Given the description of an element on the screen output the (x, y) to click on. 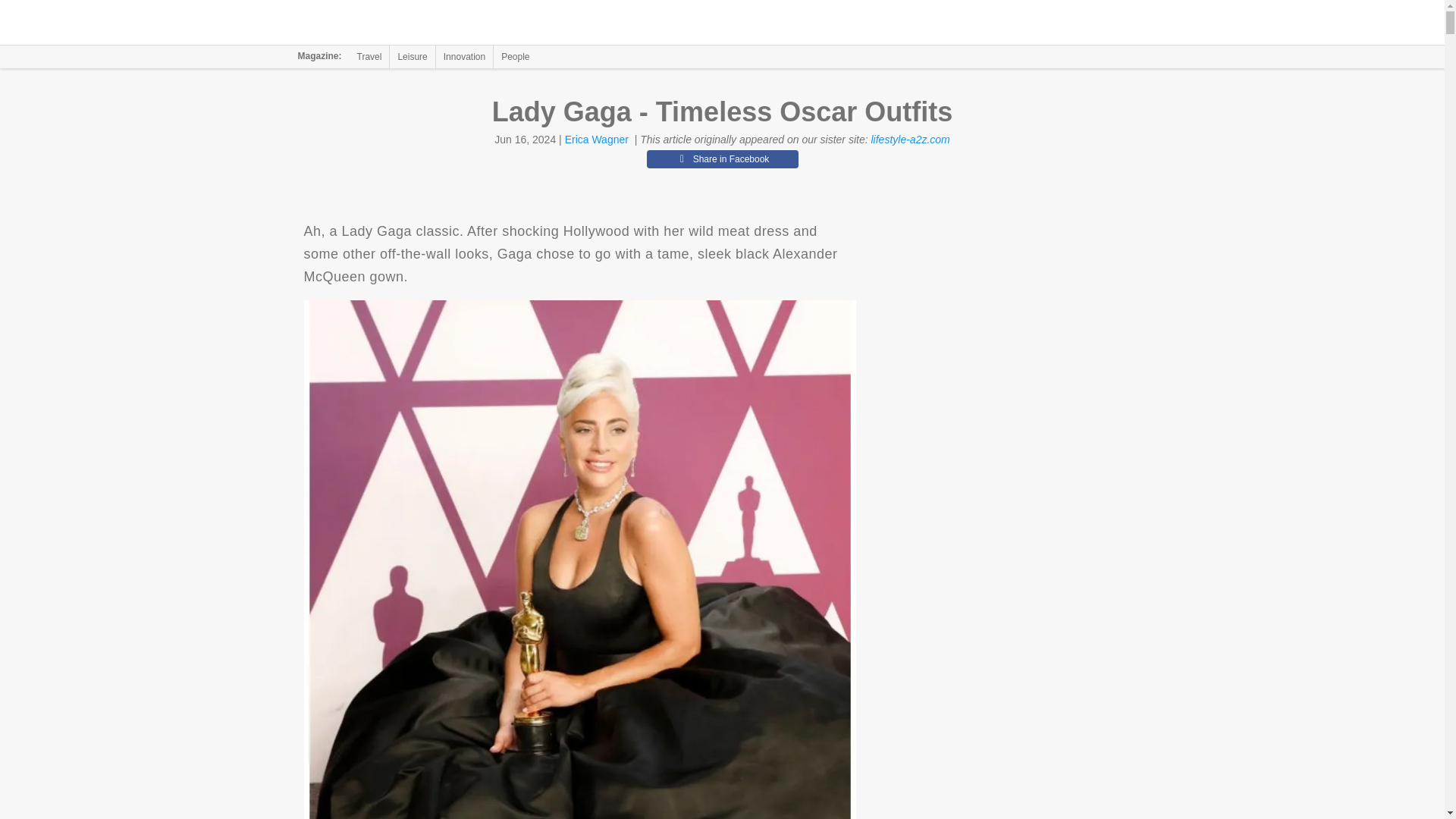
Leisure (411, 56)
Erica Wagner (596, 139)
The Jerusalem Post Magazine (391, 22)
lifestyle-a2z.com (909, 139)
Travel (369, 56)
People (515, 56)
Share in Facebook (721, 158)
Innovation (464, 56)
